Given the description of an element on the screen output the (x, y) to click on. 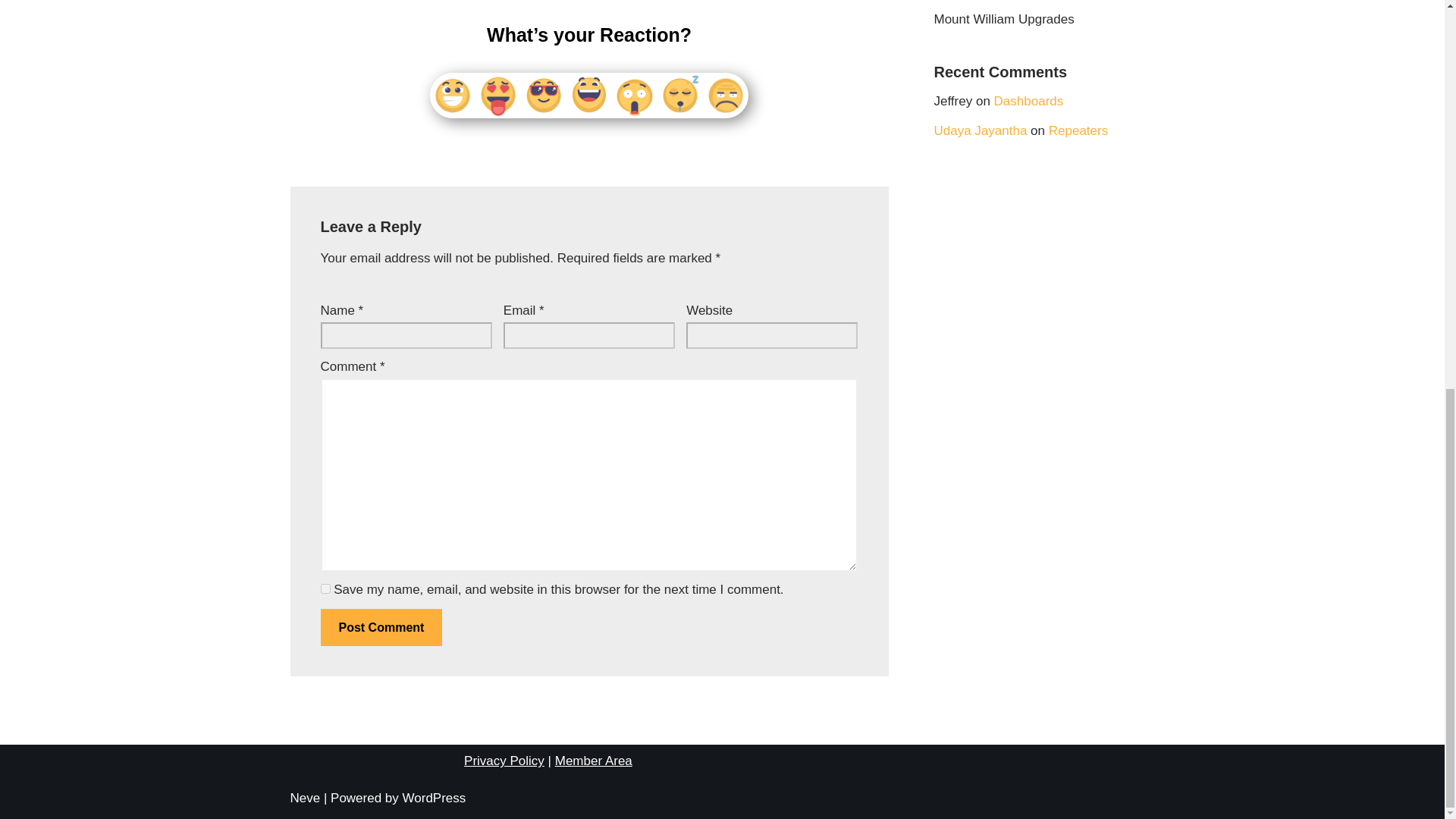
Member Area (592, 760)
Post Comment (381, 628)
yes (325, 588)
Repeaters (1078, 130)
Mount William Upgrades (1004, 19)
Dashboards (1029, 101)
Udaya Jayantha (980, 130)
Post Comment (381, 628)
Privacy Policy (504, 760)
